Given the description of an element on the screen output the (x, y) to click on. 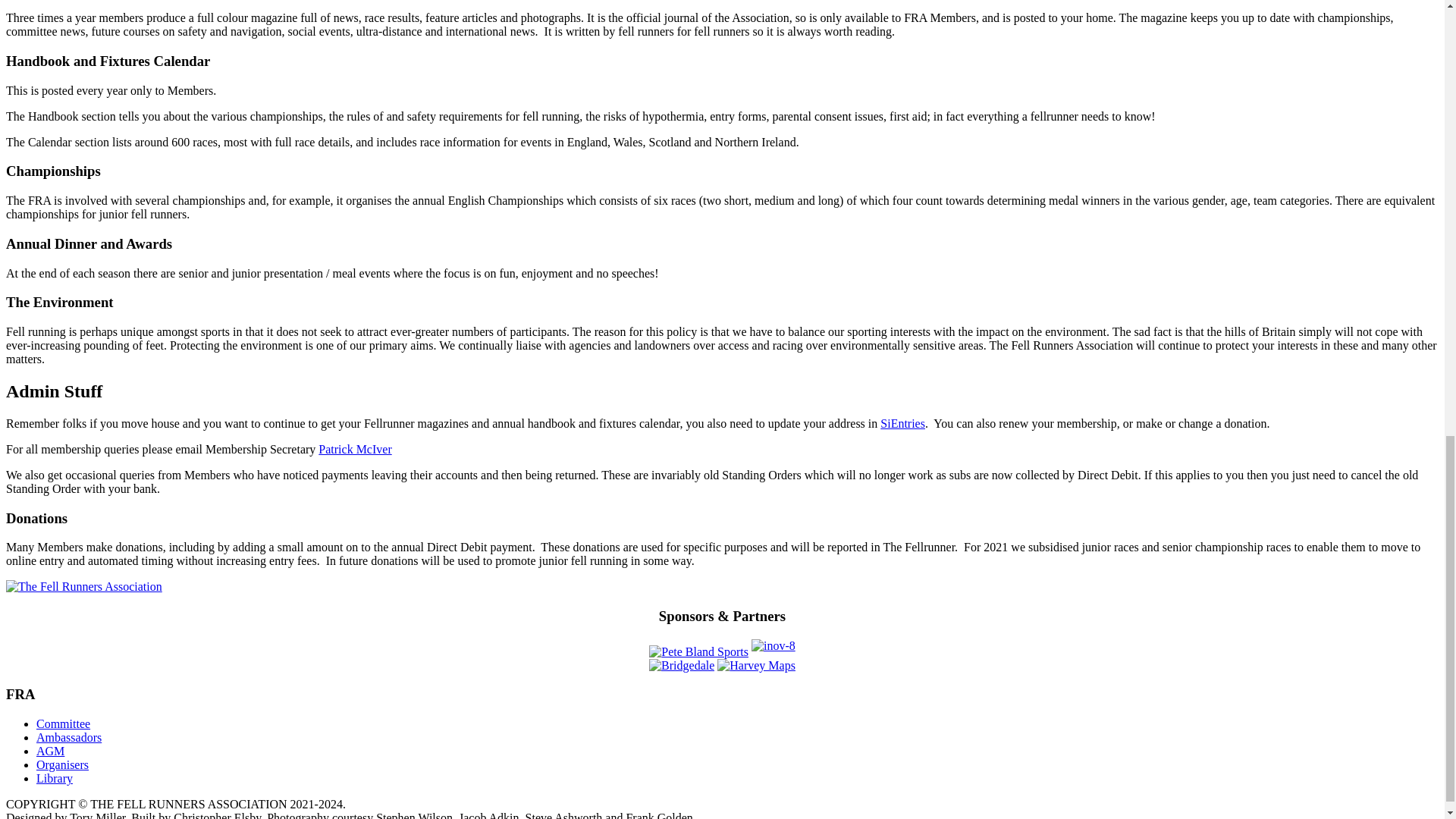
Patrick McIver (354, 449)
Click here to edit details or renew. (902, 422)
